Given the description of an element on the screen output the (x, y) to click on. 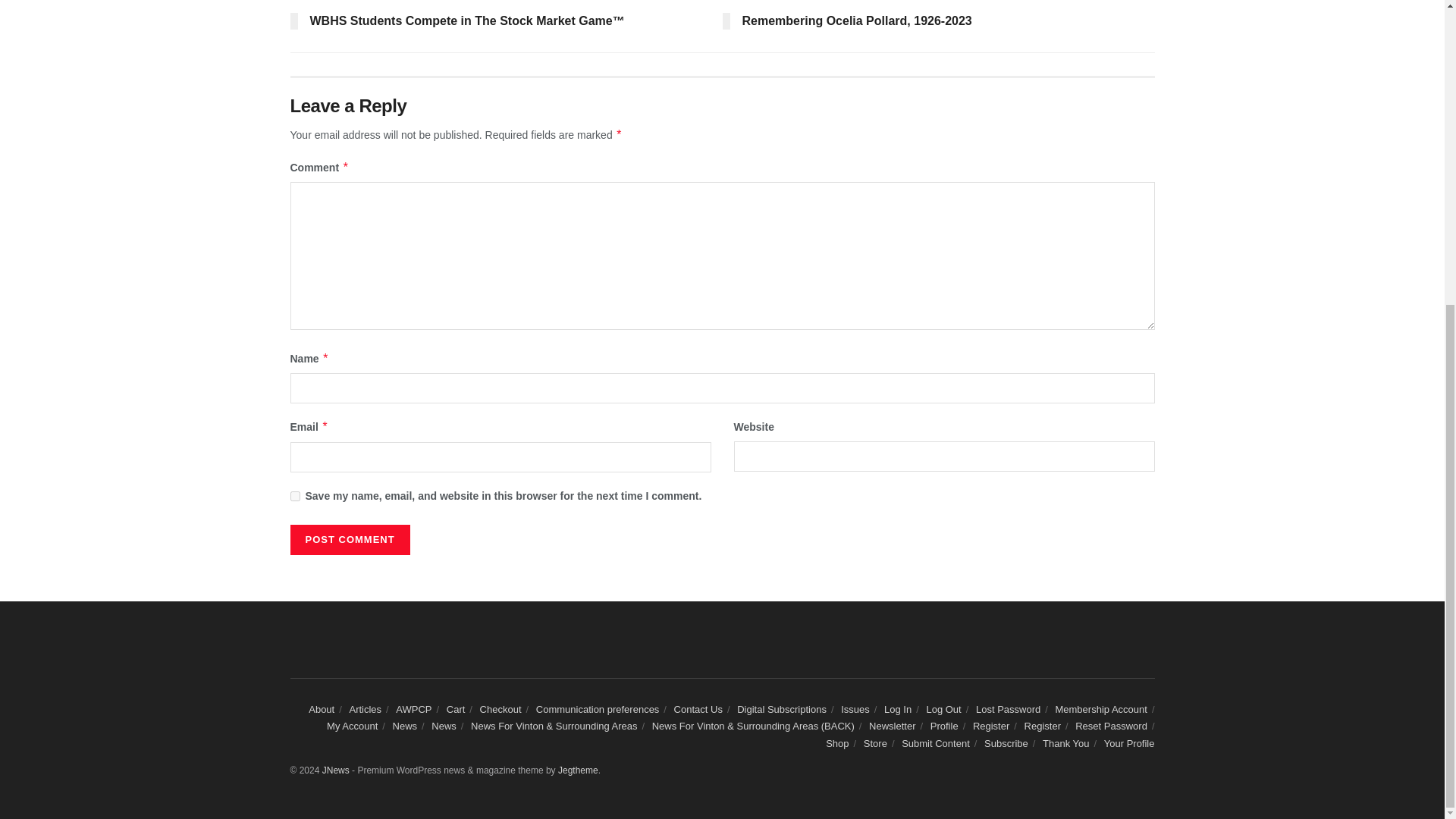
Post Comment (349, 539)
Jegtheme (577, 769)
yes (294, 496)
